Given the description of an element on the screen output the (x, y) to click on. 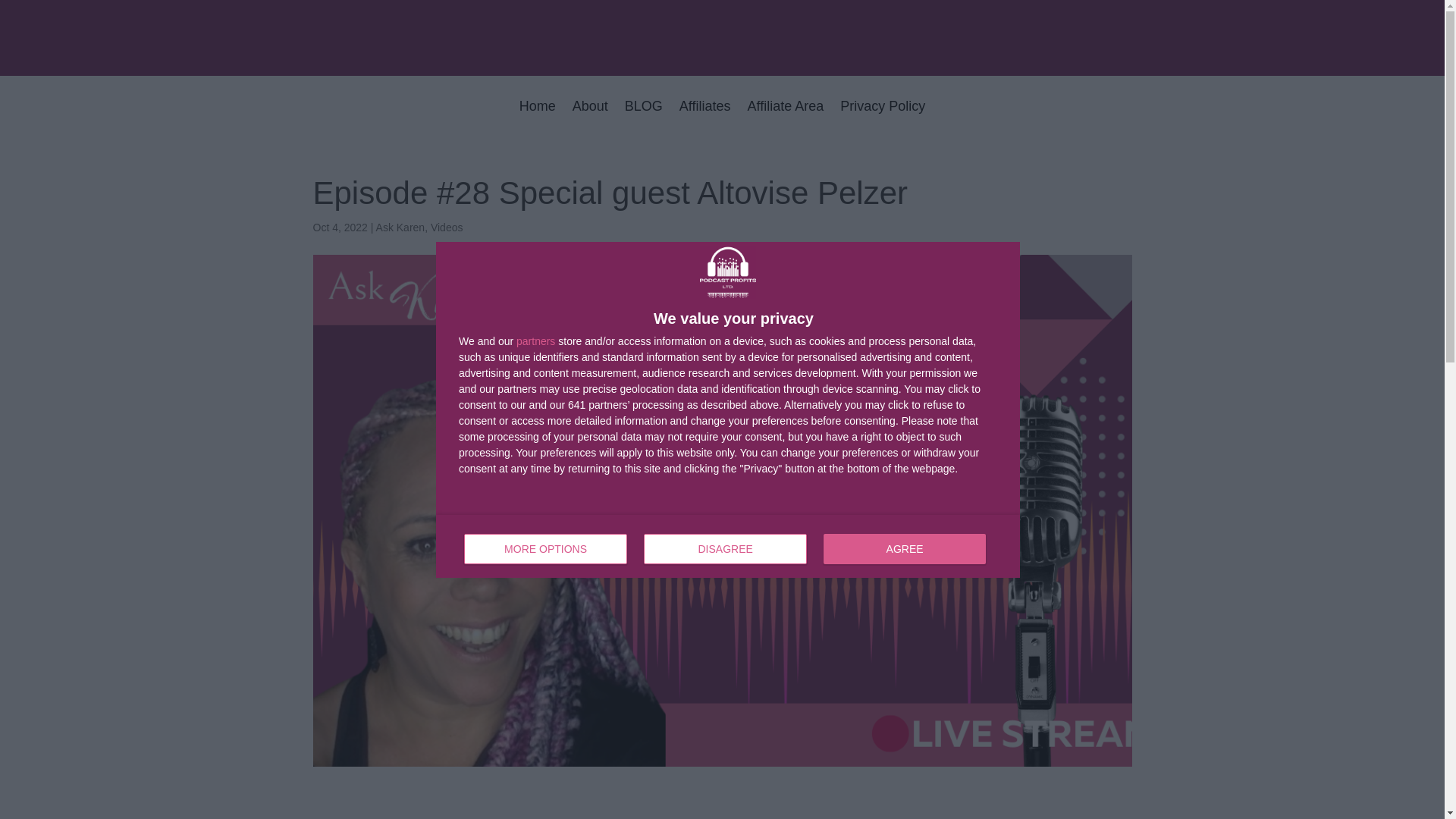
Home (537, 116)
About (590, 116)
Ask Karen (400, 227)
DISAGREE (724, 548)
partners (535, 339)
AGREE (904, 548)
MORE OPTIONS (545, 548)
Privacy Policy (882, 116)
Videos (727, 545)
Affiliates (446, 227)
Affiliate Area (704, 116)
BLOG (786, 116)
